Given the description of an element on the screen output the (x, y) to click on. 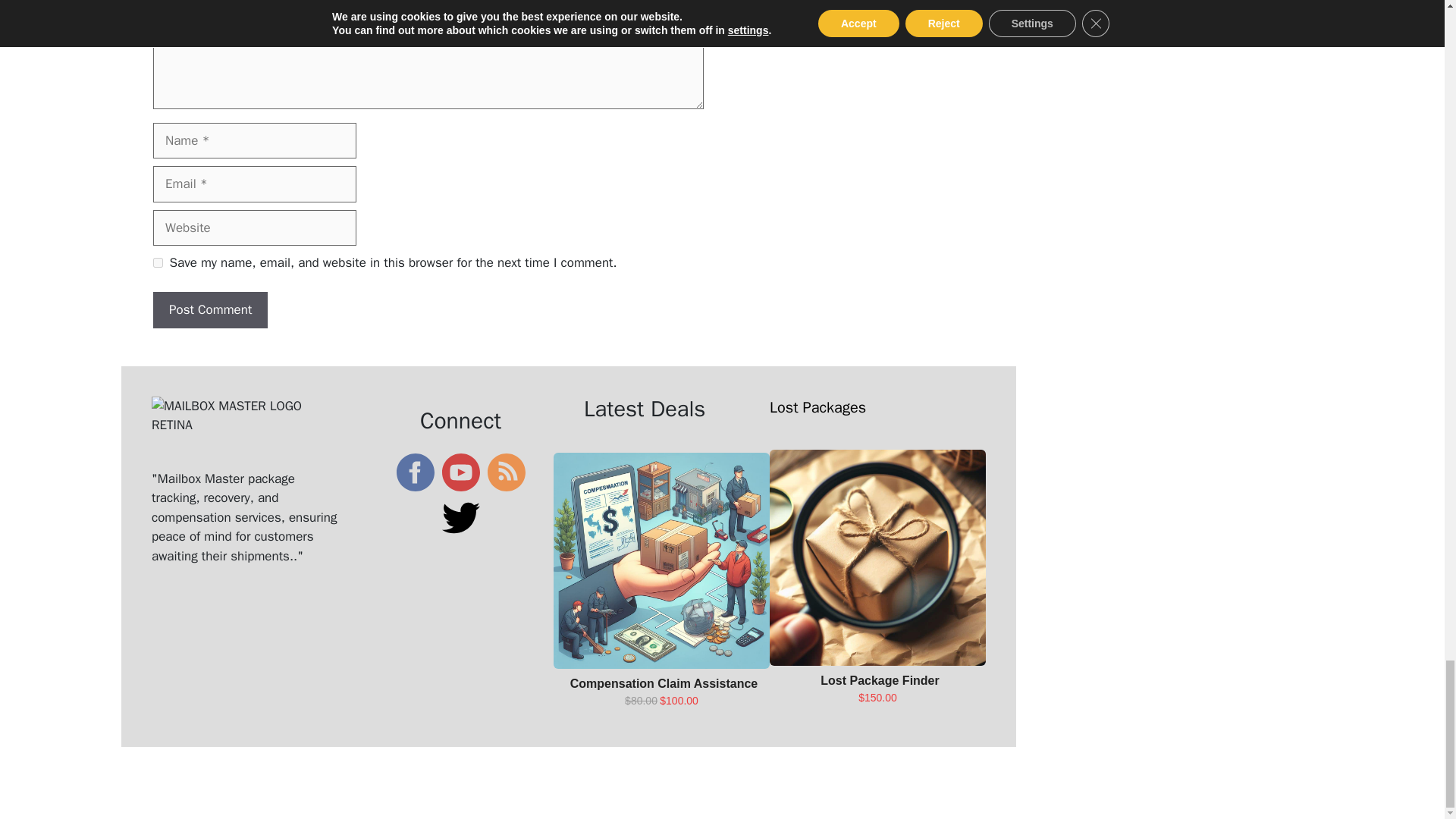
Post Comment (209, 309)
Post Comment (209, 309)
yes (157, 262)
